Given the description of an element on the screen output the (x, y) to click on. 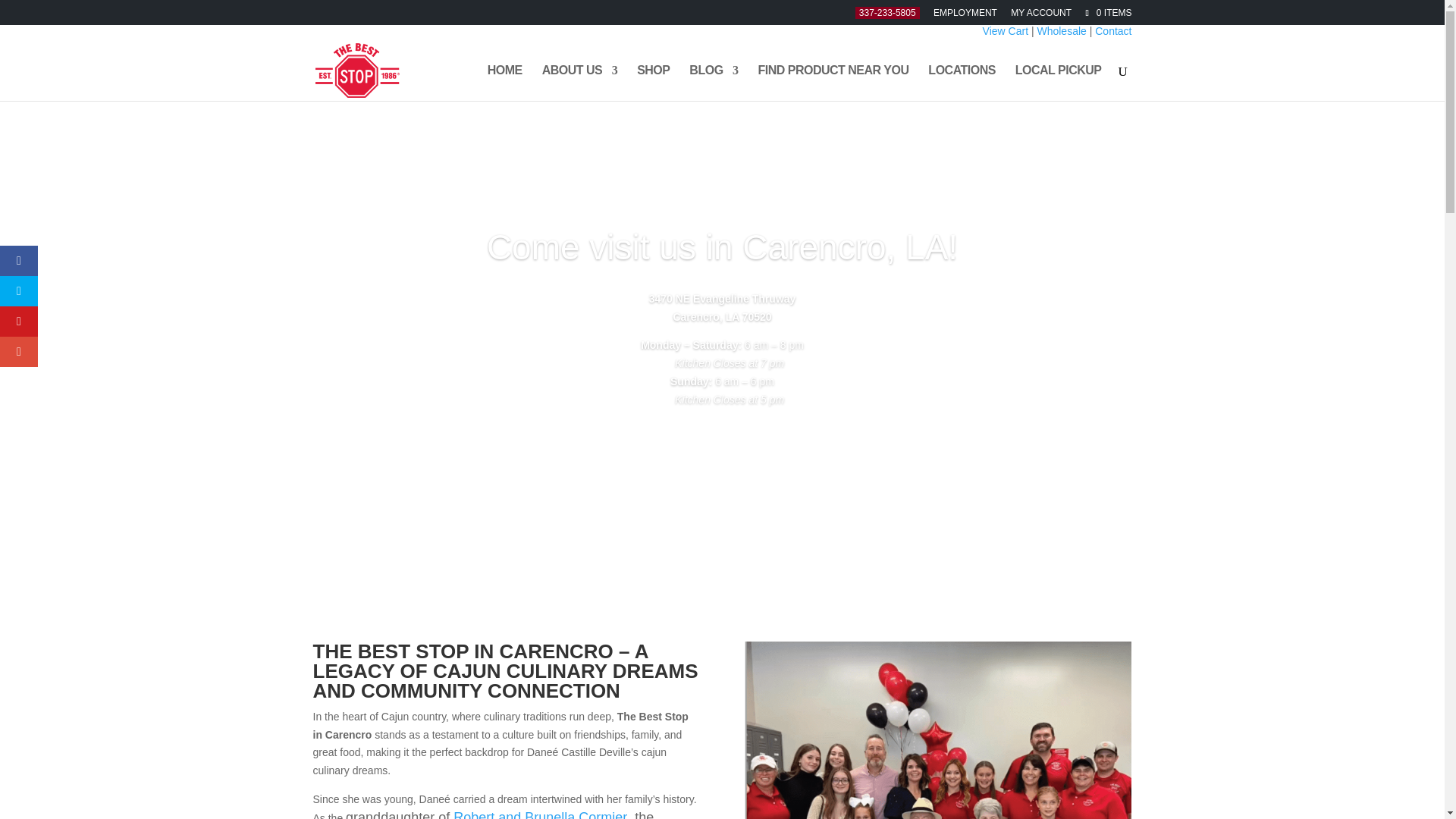
LOCATIONS (961, 82)
FIND PRODUCT NEAR YOU (832, 82)
BLOG (713, 82)
0 ITEMS (1107, 12)
MY ACCOUNT (1040, 12)
Wholesale (1061, 30)
HOME (504, 82)
SHOP (653, 82)
EMPLOYMENT (965, 12)
Contact (1112, 30)
LOCAL PICKUP (1058, 82)
337-233-5805 (887, 12)
Robert and Brunella Cormier (539, 814)
ABOUT US (579, 82)
View Cart (1004, 30)
